Given the description of an element on the screen output the (x, y) to click on. 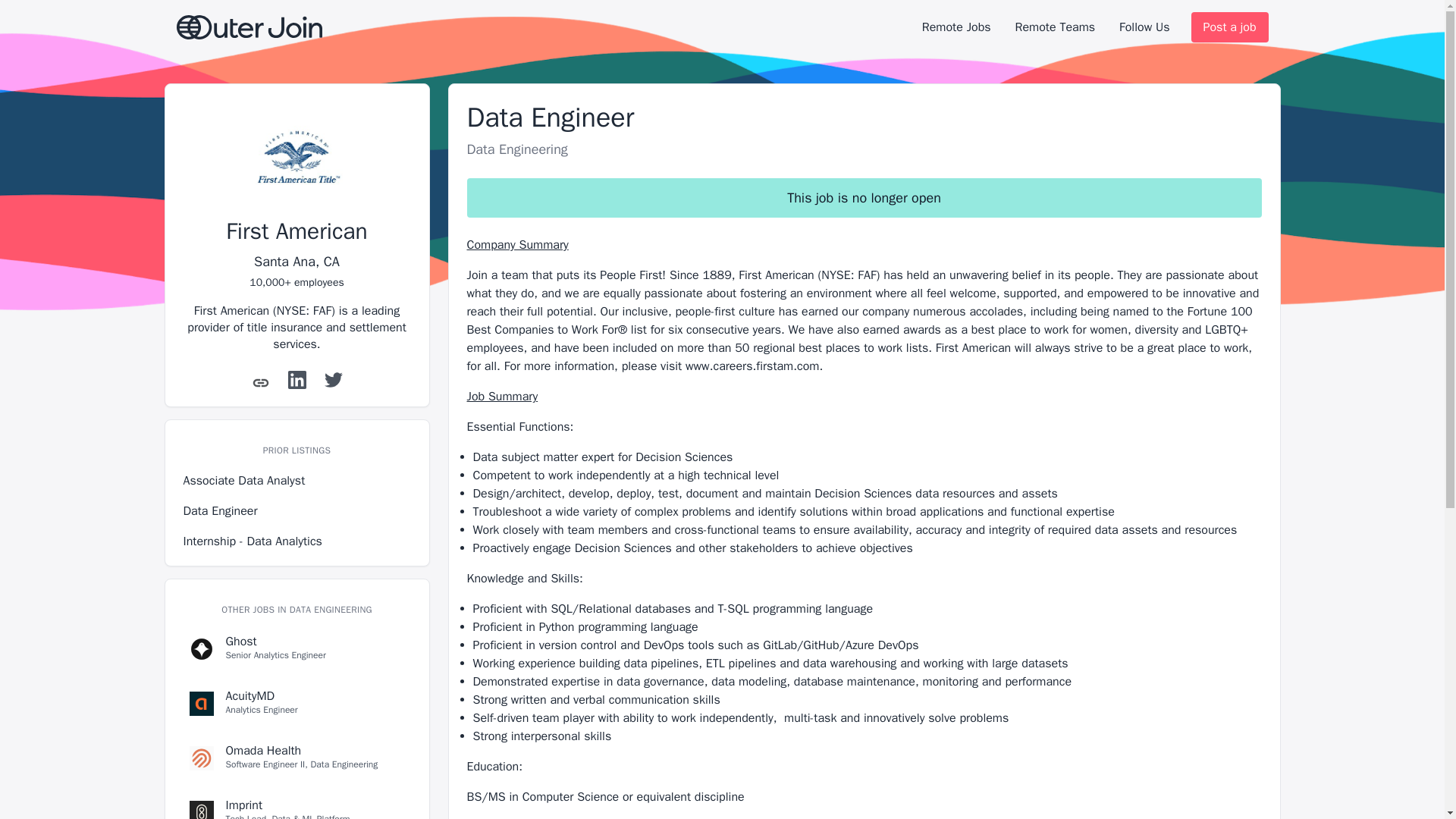
Remote Jobs (956, 27)
Associate Data Analyst (296, 480)
Data Engineer (296, 511)
Post a job (1229, 27)
First American (295, 231)
Internship - Data Analytics (296, 757)
Remote Teams (296, 541)
Follow Us (1054, 27)
